Given the description of an element on the screen output the (x, y) to click on. 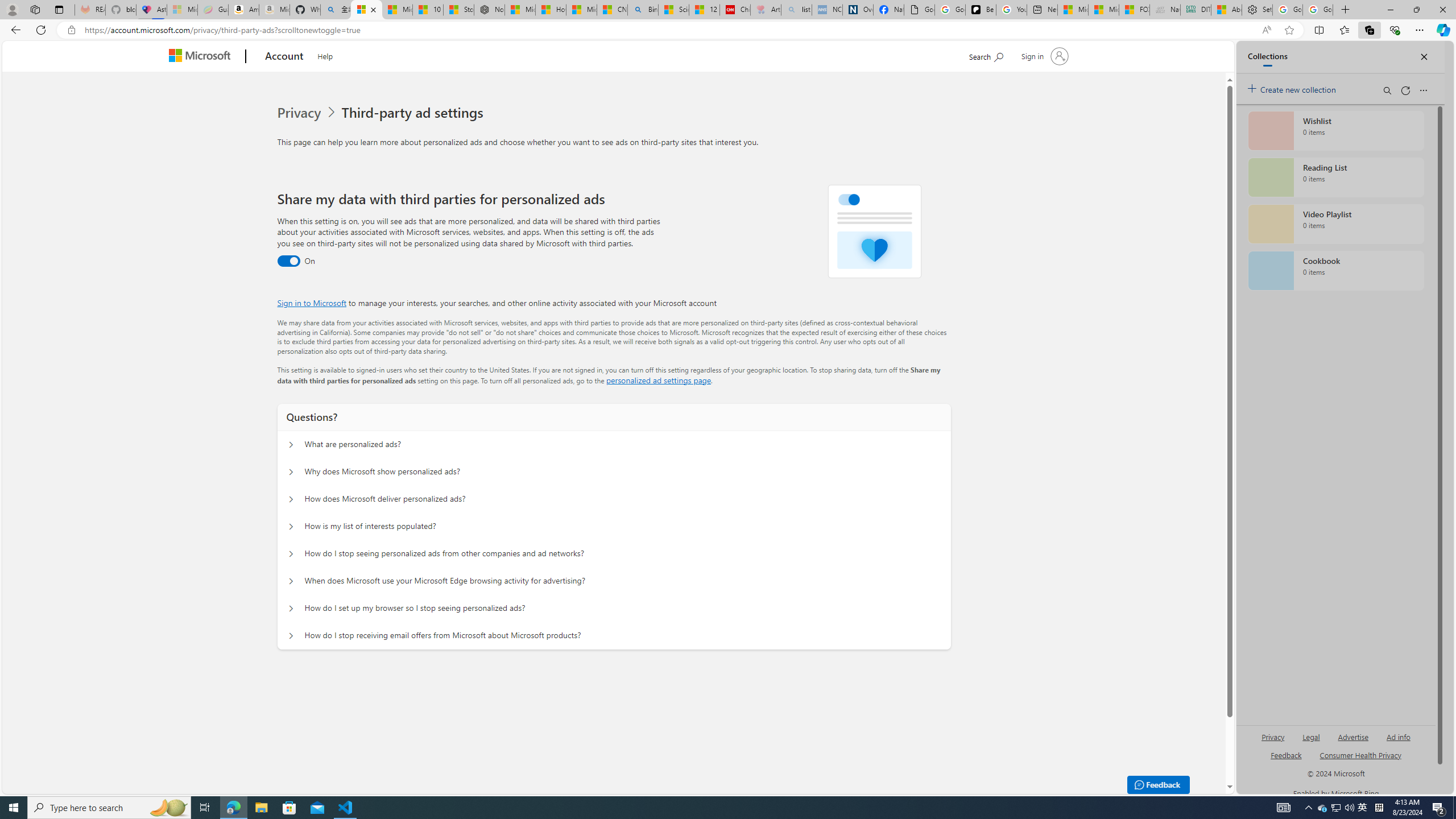
Nordace - Nordace Siena Is Not An Ordinary Backpack (488, 9)
Minimize (1390, 9)
Science - MSN (673, 9)
CNN - MSN (611, 9)
Be Smart | creating Science videos | Patreon (980, 9)
Tab actions menu (58, 9)
personalized ad settings page (658, 379)
Stocks - MSN (458, 9)
